Given the description of an element on the screen output the (x, y) to click on. 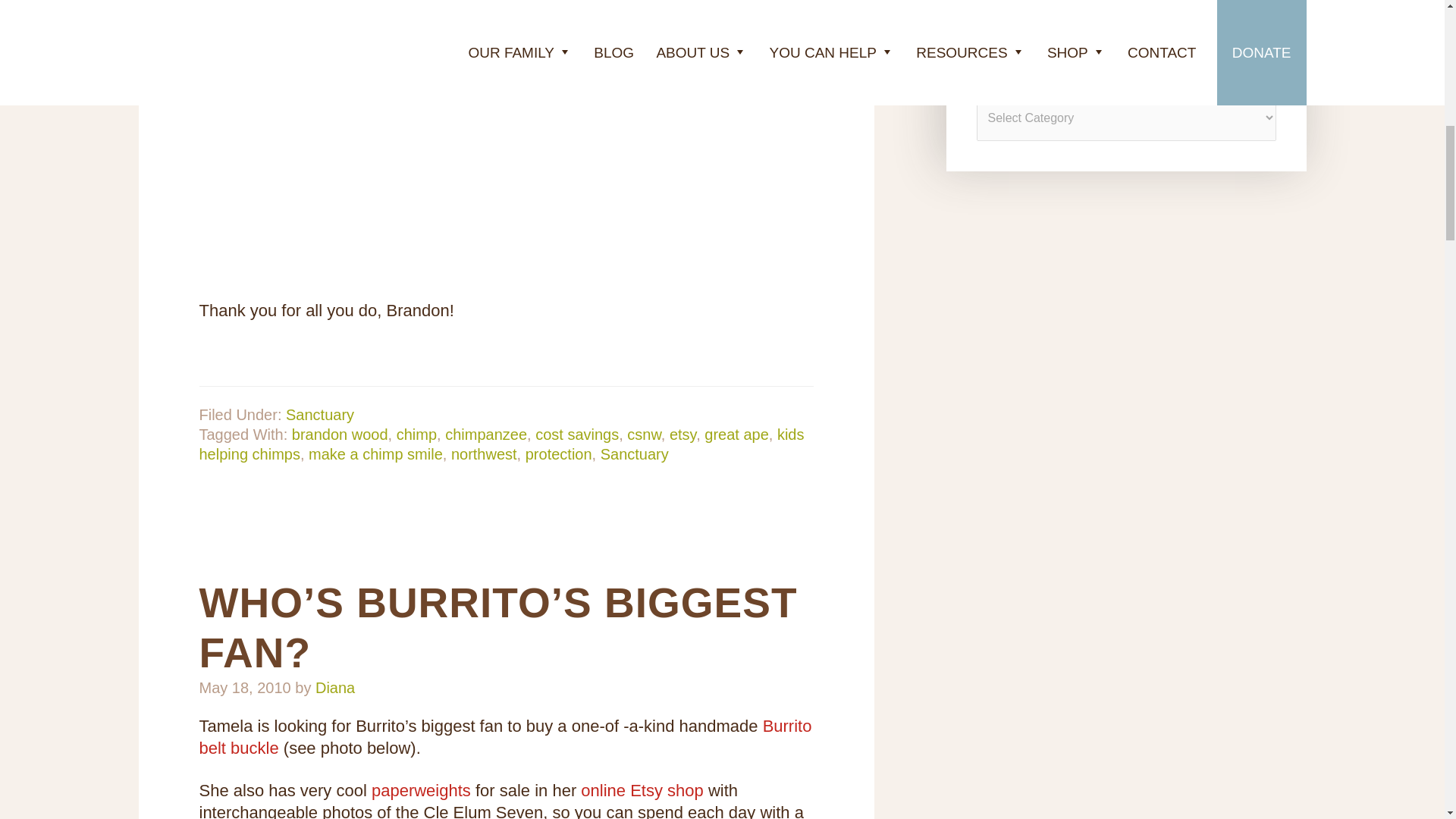
Tamela's Etsy shop - paperweights (420, 790)
Tamela's Etsy shop - burrito buckle (504, 736)
Tamela's Etsy shop (641, 790)
